Given the description of an element on the screen output the (x, y) to click on. 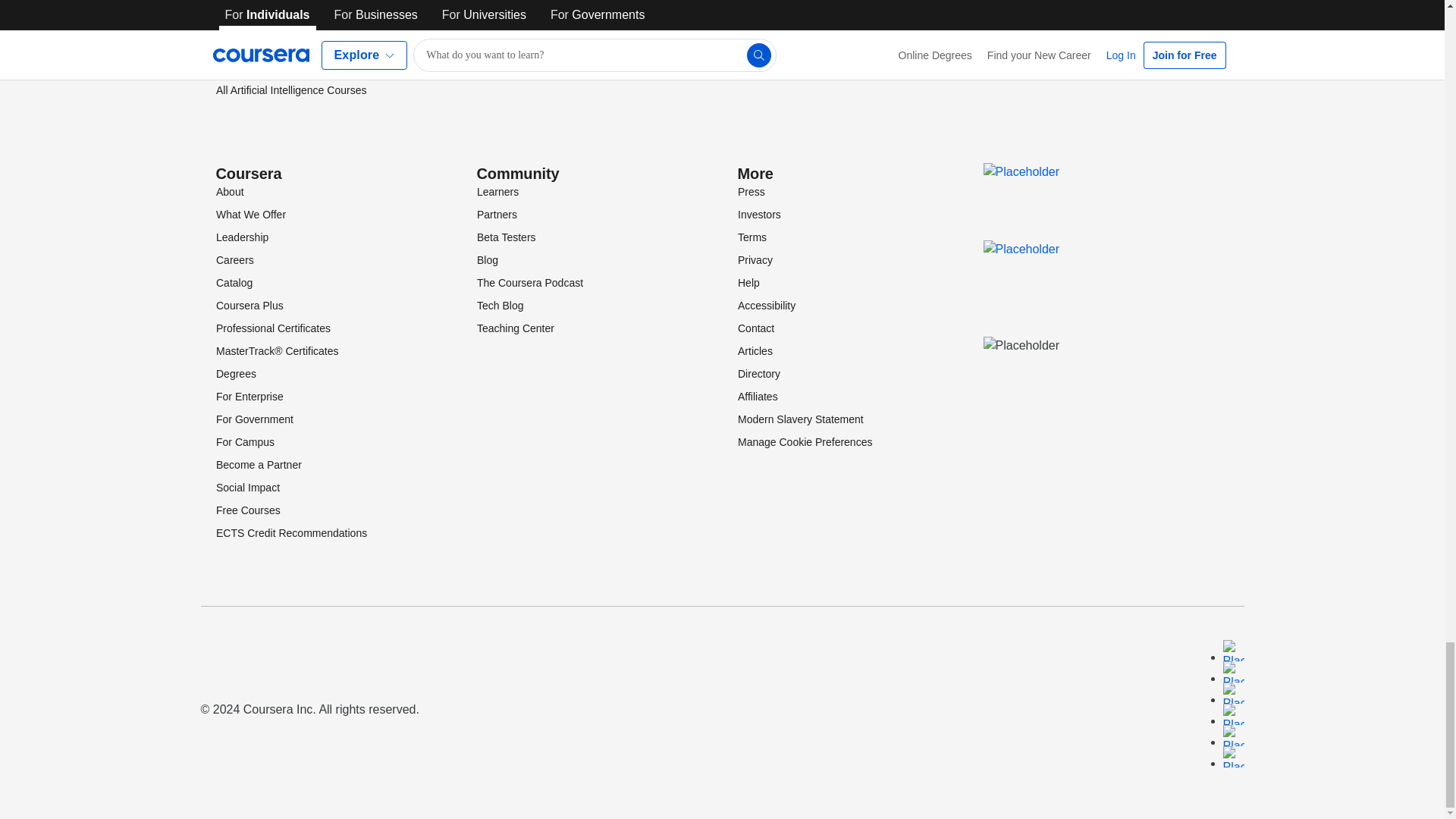
IBM AI Product Manager Professional Certificate (303, 6)
Stanford Machine Learning Specialization (312, 29)
Vanderbilt Prompt Engineering for ChatGPT Course (318, 59)
All Artificial Intelligence Courses (290, 90)
